Given the description of an element on the screen output the (x, y) to click on. 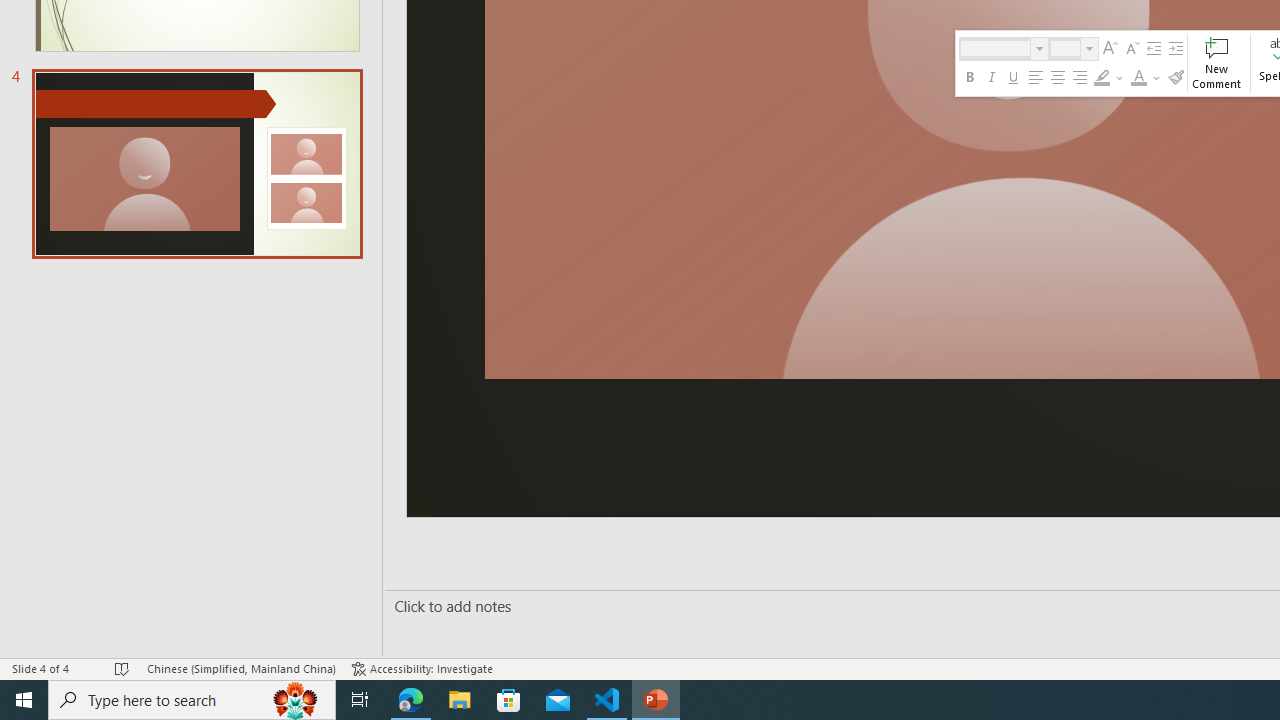
New Comment (1216, 62)
Class: NetUITextbox (1065, 48)
